Given the description of an element on the screen output the (x, y) to click on. 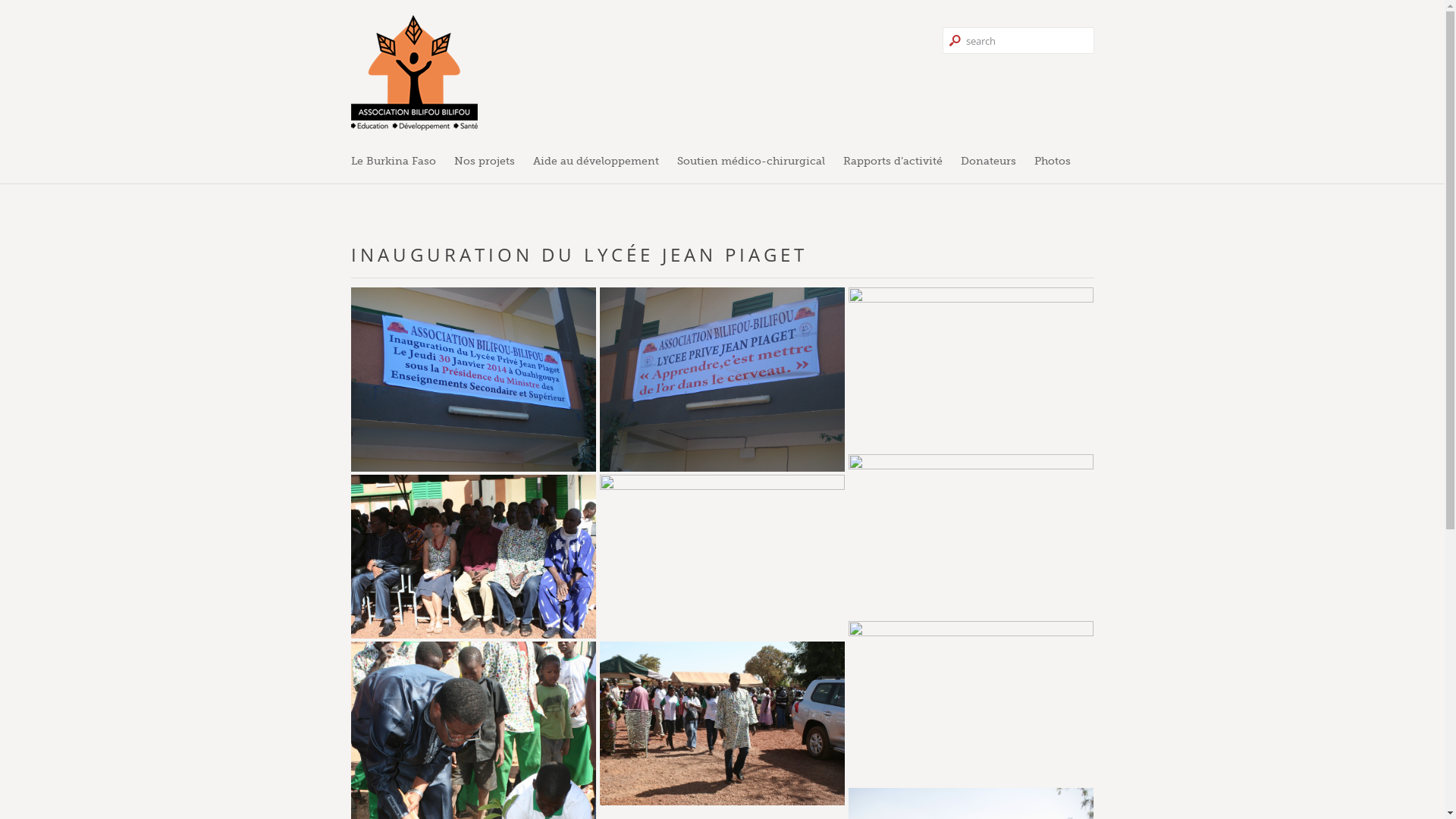
IMG_8408 Element type: hover (969, 535)
Donateurs Element type: text (987, 160)
Nos projets Element type: text (483, 160)
IMG_8499 Element type: hover (721, 722)
Photos Element type: text (1052, 160)
IMG_8461 Element type: hover (721, 555)
IMG_8404 Element type: hover (969, 368)
IMG_8422 Element type: hover (472, 555)
IMG_8480 Element type: hover (969, 702)
Le Burkina Faso Element type: text (397, 160)
